Given the description of an element on the screen output the (x, y) to click on. 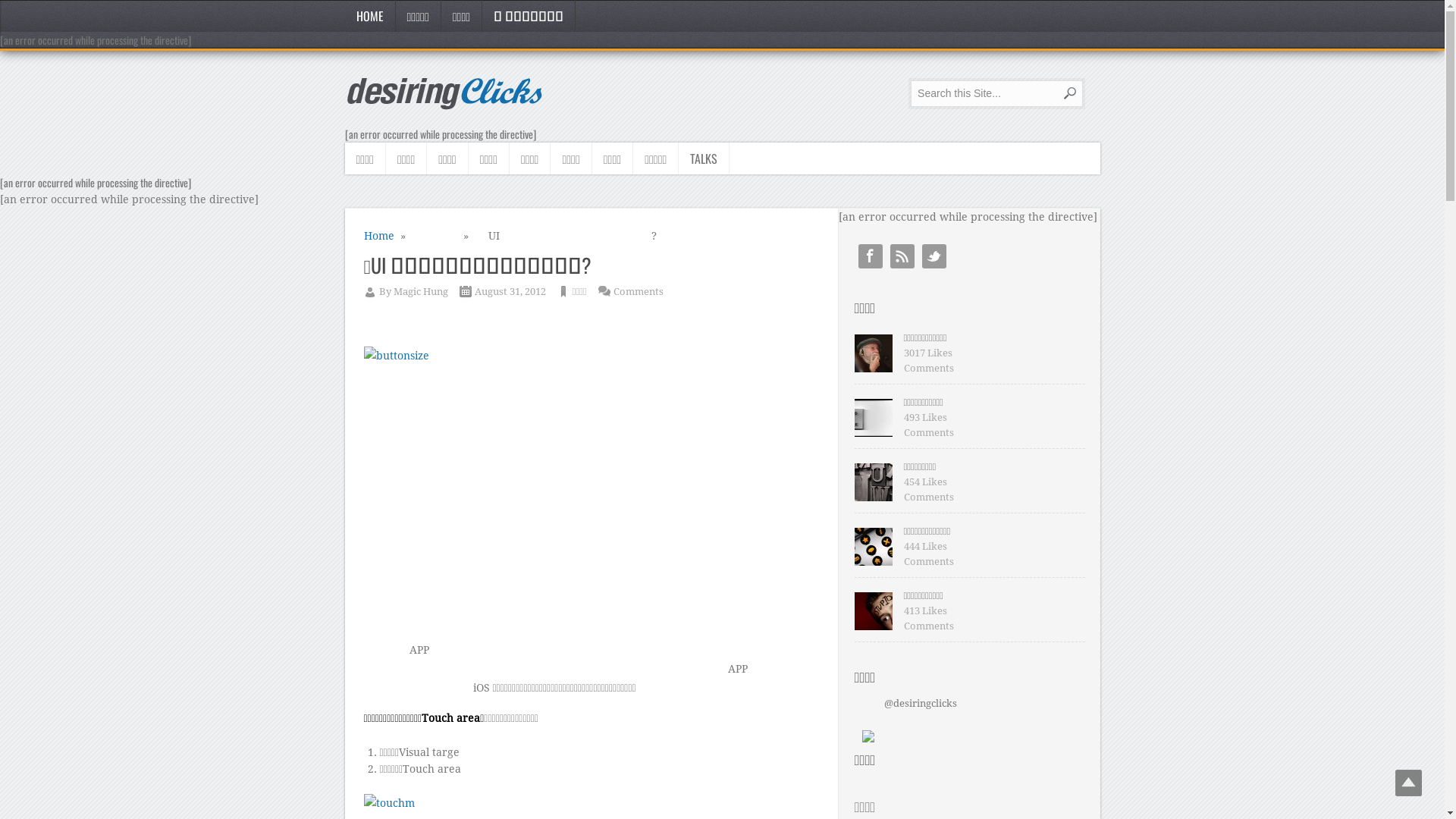
Top Element type: text (1408, 782)
RSS Element type: text (902, 256)
Comments Element type: text (637, 291)
TALKS Element type: text (703, 158)
Magic Hung Element type: text (419, 291)
Home Element type: text (379, 235)
HOME Element type: text (369, 15)
buttonsize Element type: hover (586, 488)
Facebook Element type: text (870, 256)
Twitter Element type: text (934, 256)
